Given the description of an element on the screen output the (x, y) to click on. 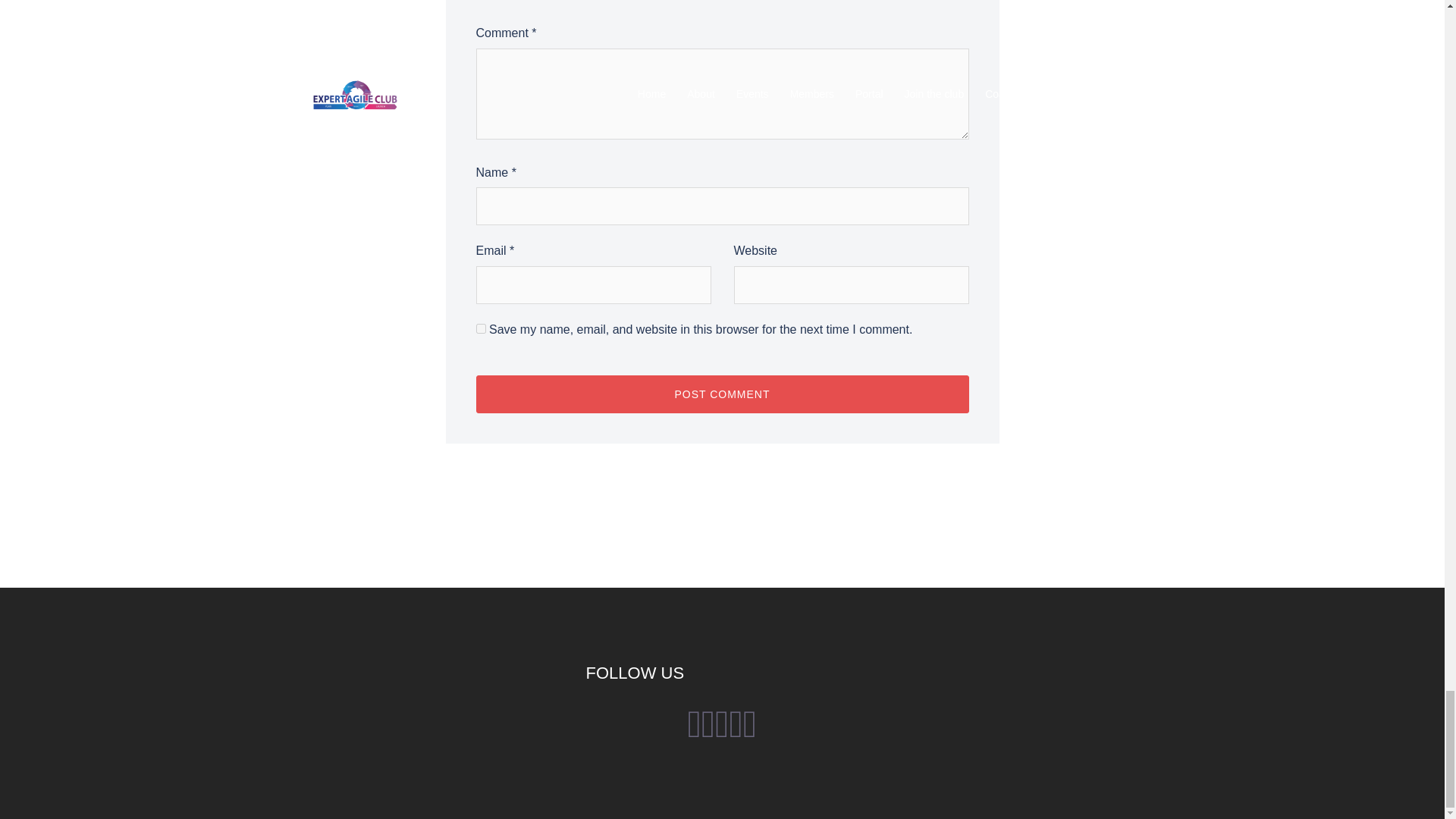
yes (481, 328)
Post Comment (722, 394)
